Given the description of an element on the screen output the (x, y) to click on. 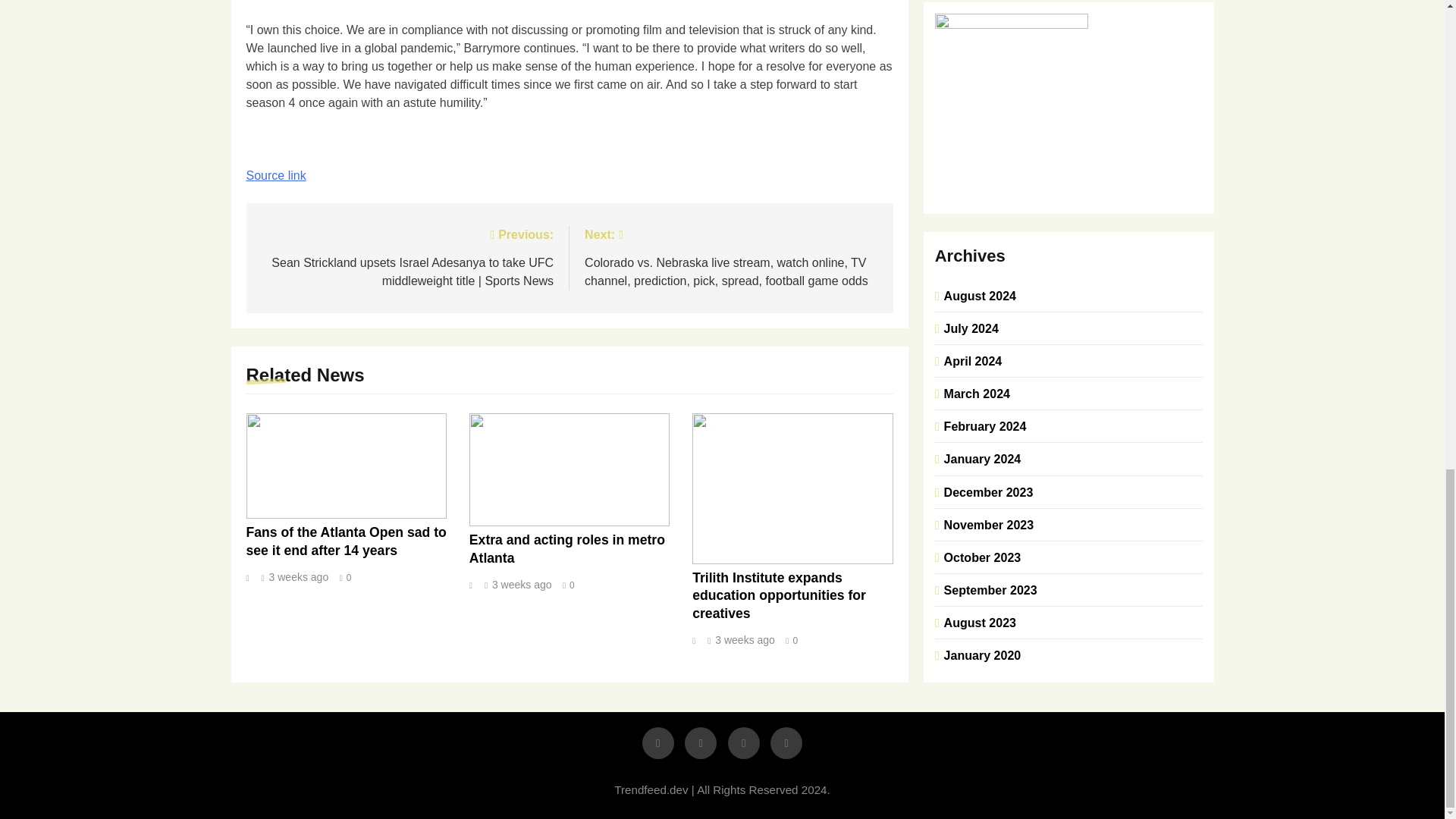
Source link (275, 174)
Fans of the Atlanta Open sad to see it end after 14 years (345, 540)
